Given the description of an element on the screen output the (x, y) to click on. 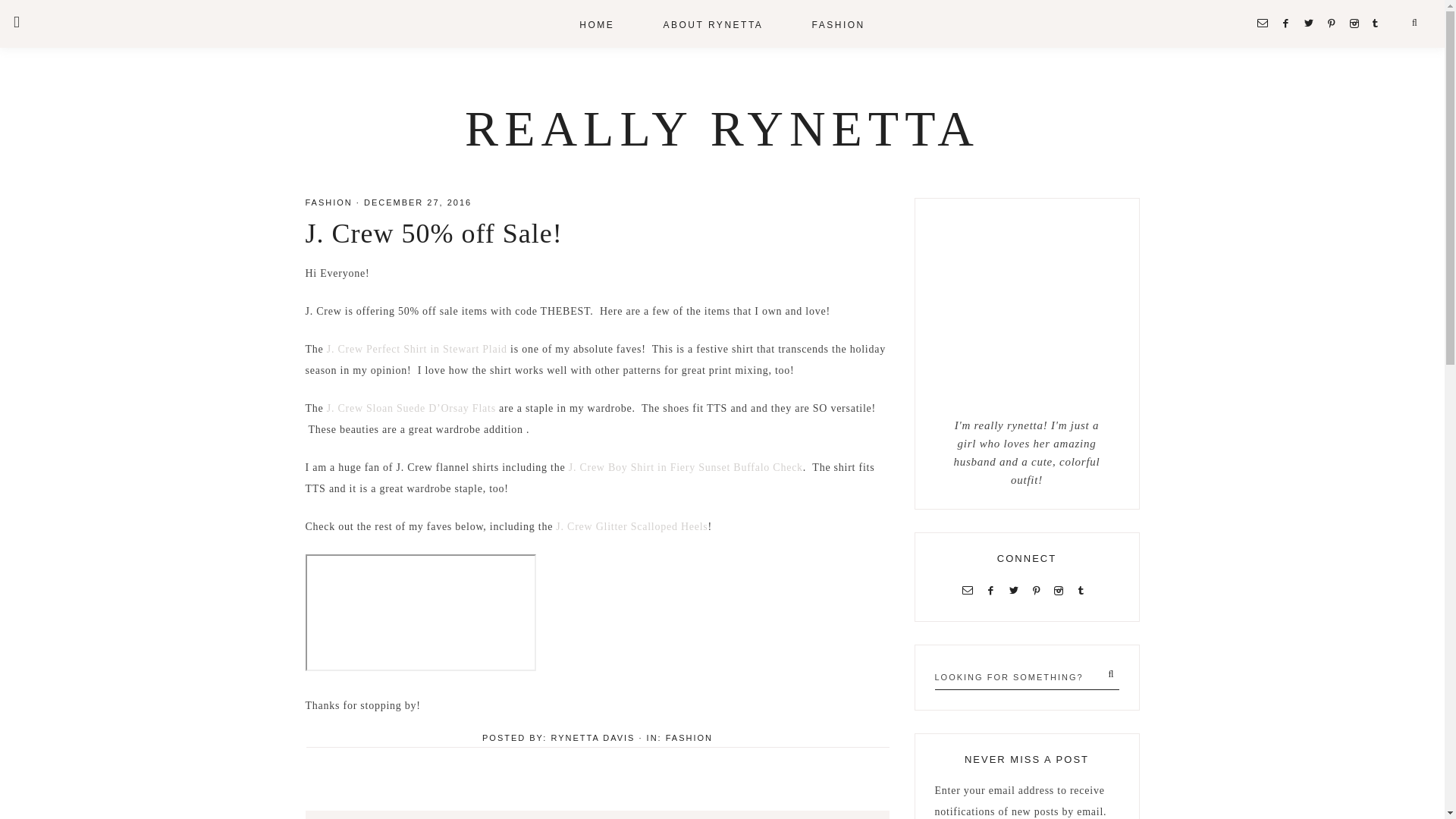
Facebook (994, 590)
Instagram (1357, 23)
J. Crew Boy Shirt in Fiery Sunset Buffalo Check (686, 467)
Pinterest (1333, 23)
J. Crew Perfect Shirt in Stewart Plaid (416, 348)
FASHION (328, 202)
Email Me (970, 590)
FASHION (689, 737)
Tumblr (1083, 590)
Instagram (1061, 590)
HOME (596, 23)
Twitter (1312, 23)
J. Crew Glitter Scalloped Heels (631, 526)
Twitter (1016, 590)
REALLY RYNETTA (721, 128)
